Given the description of an element on the screen output the (x, y) to click on. 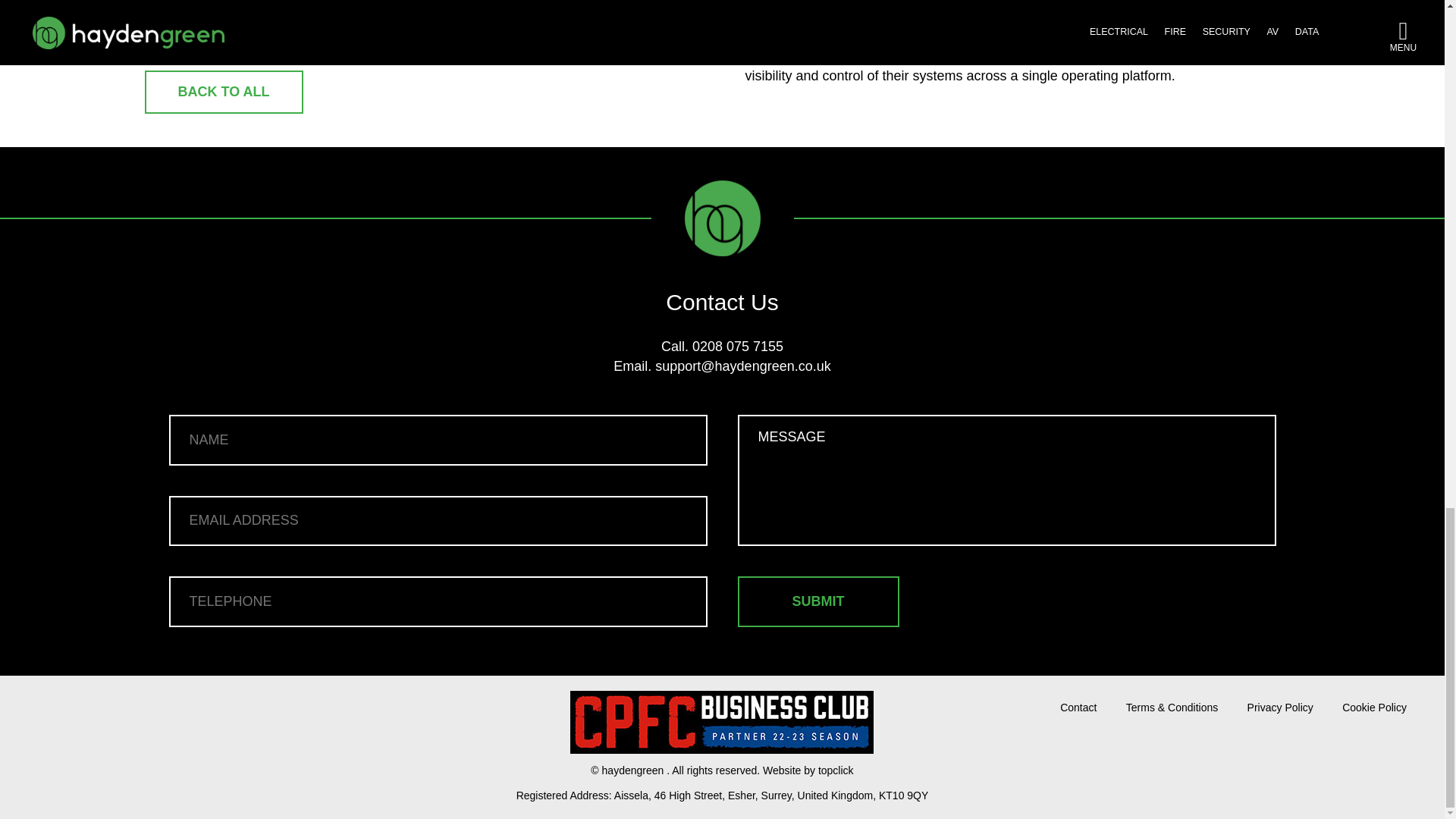
BACK TO ALL (223, 91)
SUBMIT (817, 601)
BACK TO ALL (223, 92)
0208 075 7155 (738, 346)
topclick (835, 770)
SUBMIT (817, 601)
